Given the description of an element on the screen output the (x, y) to click on. 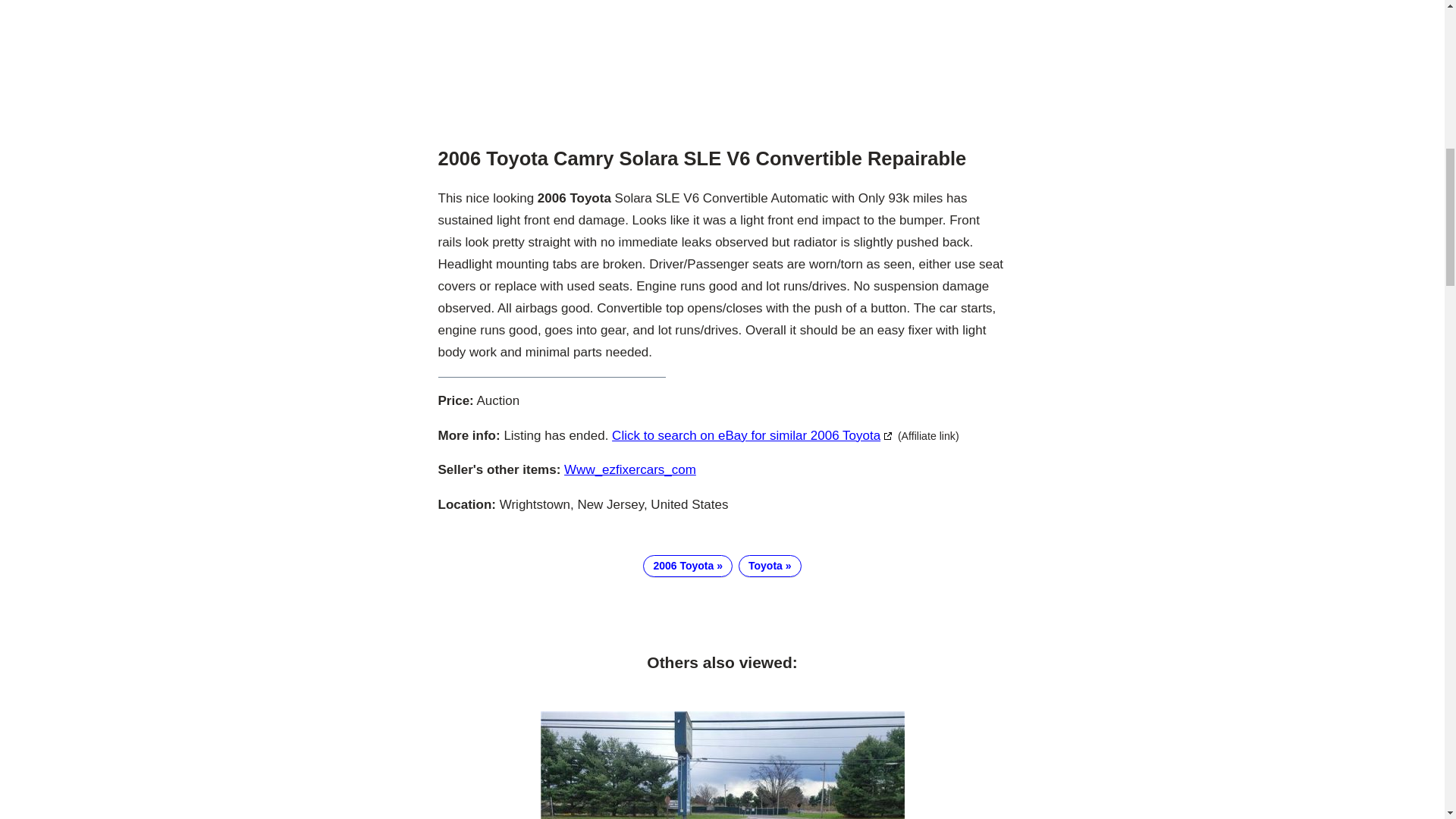
2006 Toyota (687, 566)
Toyota (770, 566)
Click to search on eBay for similar 2006 Toyota (752, 434)
Advertisement (722, 64)
